Given the description of an element on the screen output the (x, y) to click on. 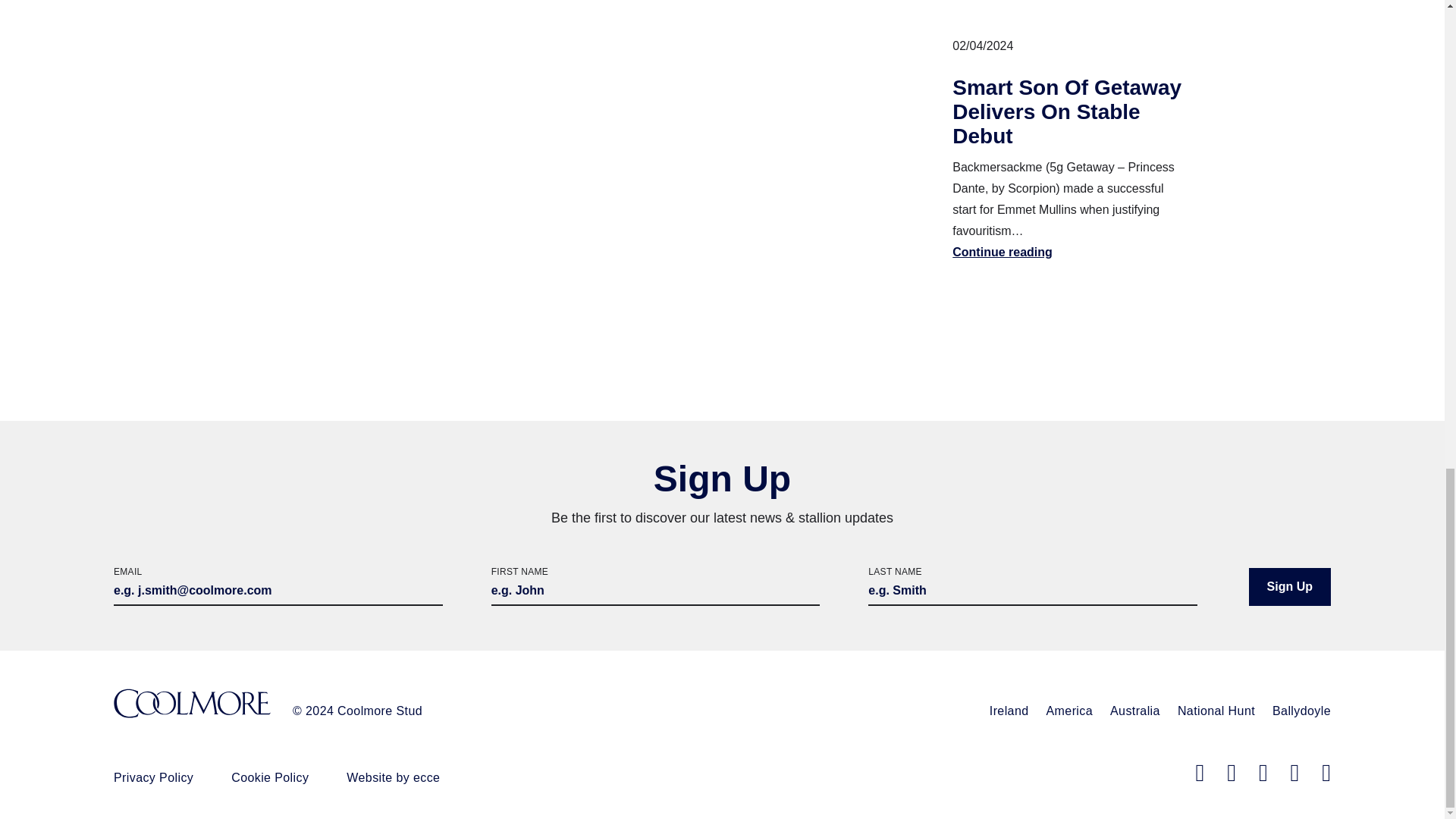
Cookie Policy (269, 777)
Sign Up (1289, 587)
Coolmore (191, 704)
Australia (1134, 710)
Ballydoyle (1301, 710)
Privacy Policy (153, 777)
Website by ecce (392, 777)
Ireland (1009, 710)
America (1069, 710)
National Hunt (1216, 710)
